Given the description of an element on the screen output the (x, y) to click on. 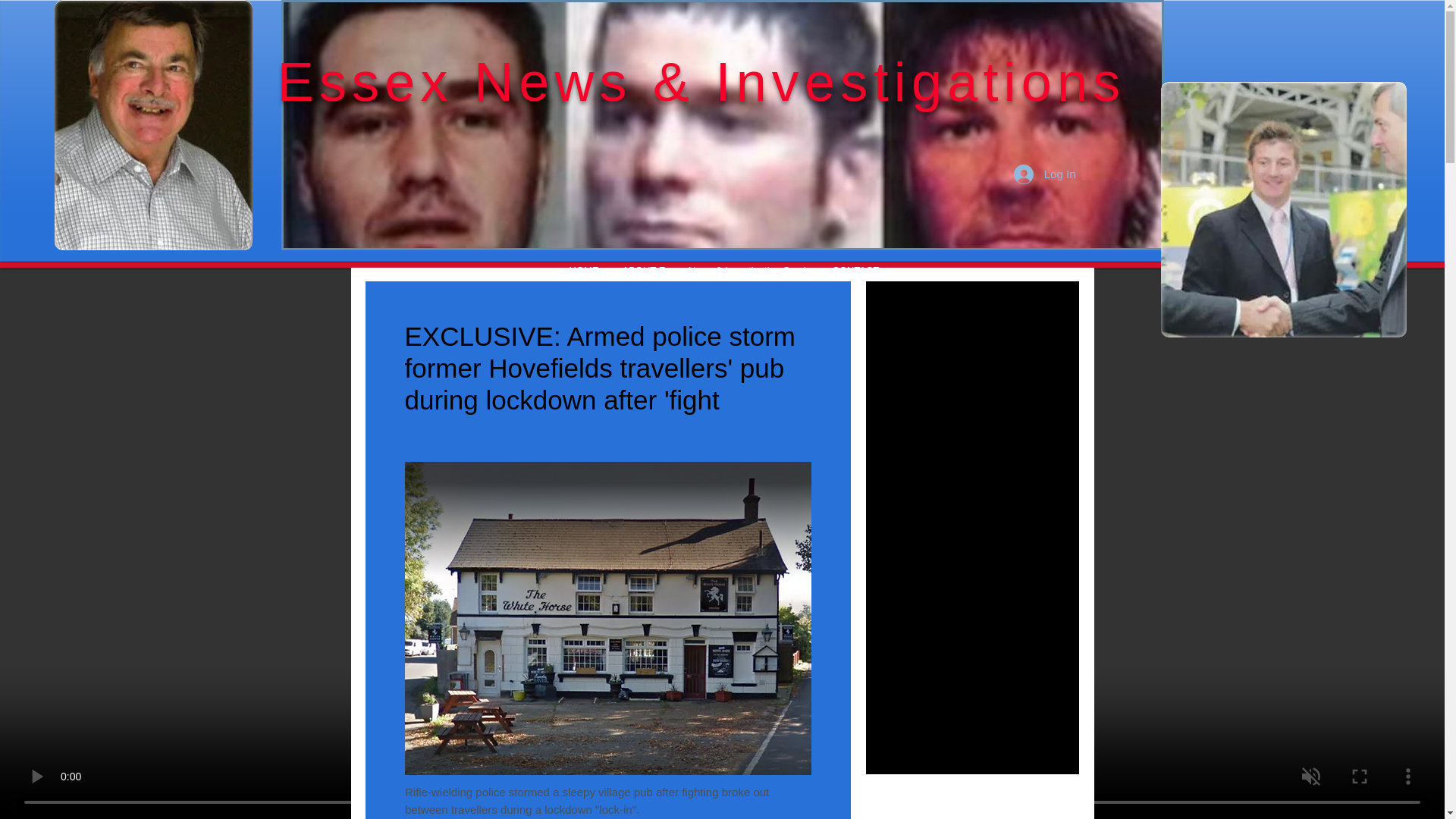
HOME (583, 270)
CONTACT (854, 270)
